Given the description of an element on the screen output the (x, y) to click on. 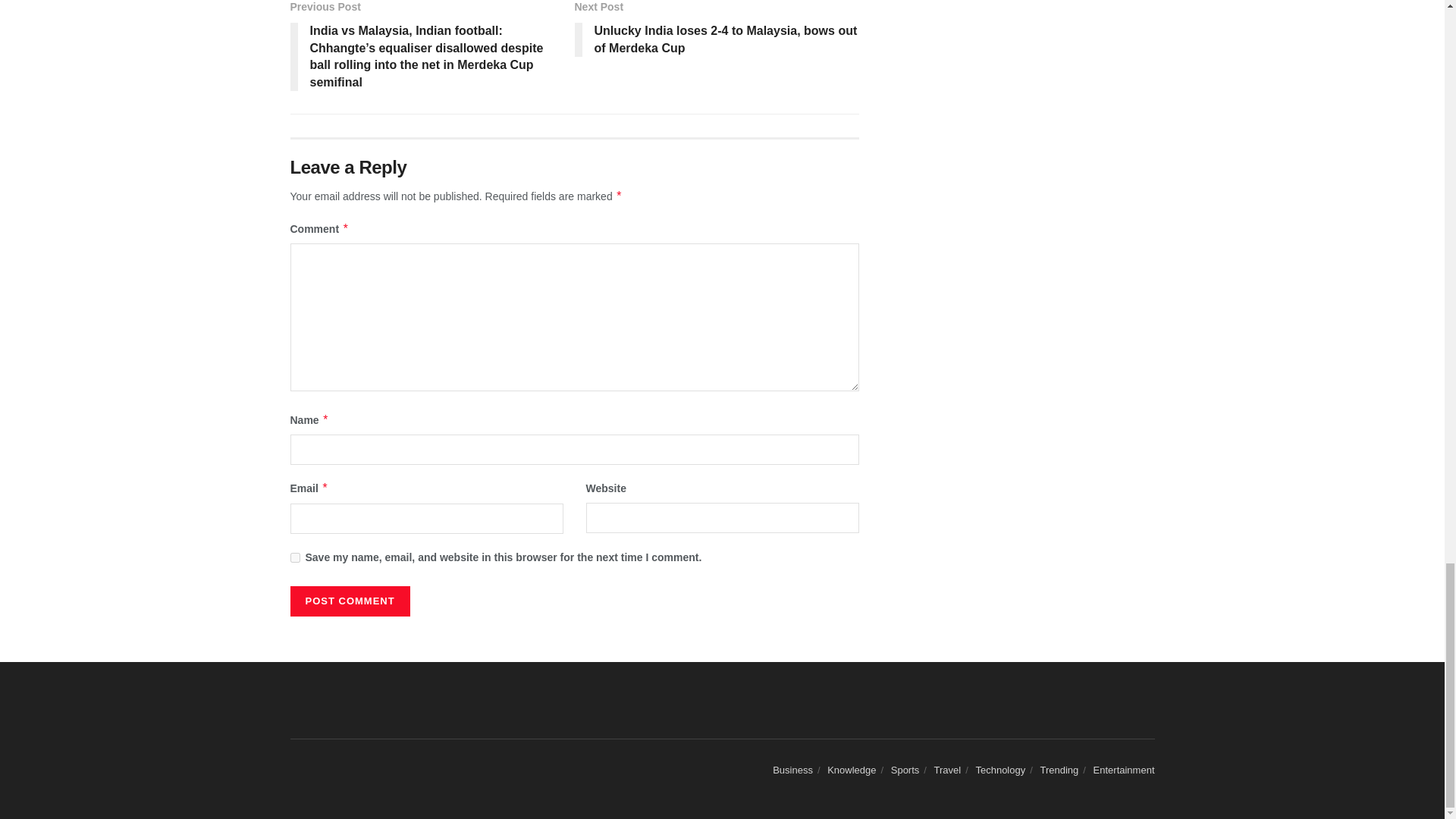
Post Comment (349, 601)
yes (294, 557)
